Given the description of an element on the screen output the (x, y) to click on. 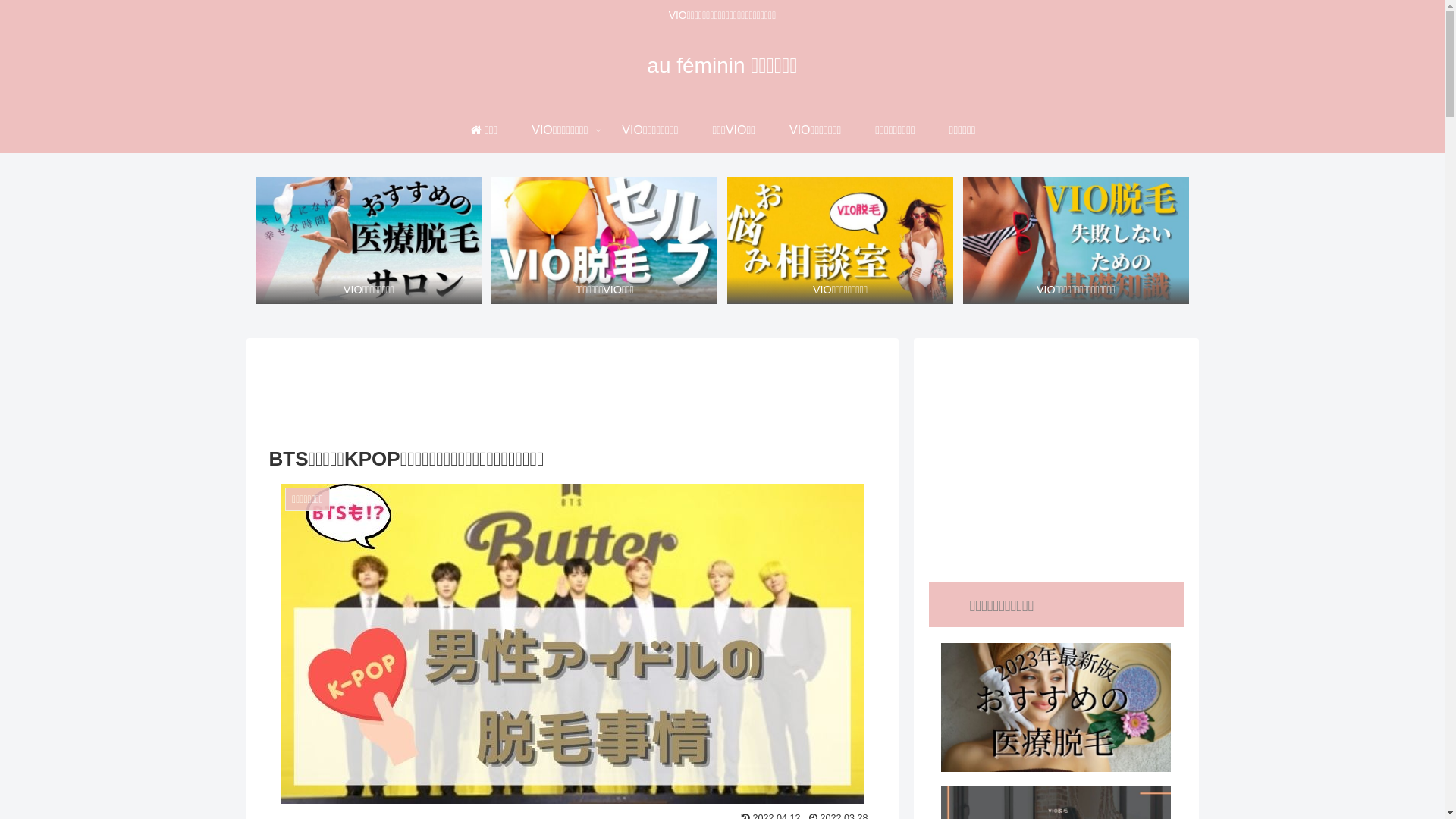
Advertisement Element type: hover (1055, 459)
Advertisement Element type: hover (571, 388)
